Given the description of an element on the screen output the (x, y) to click on. 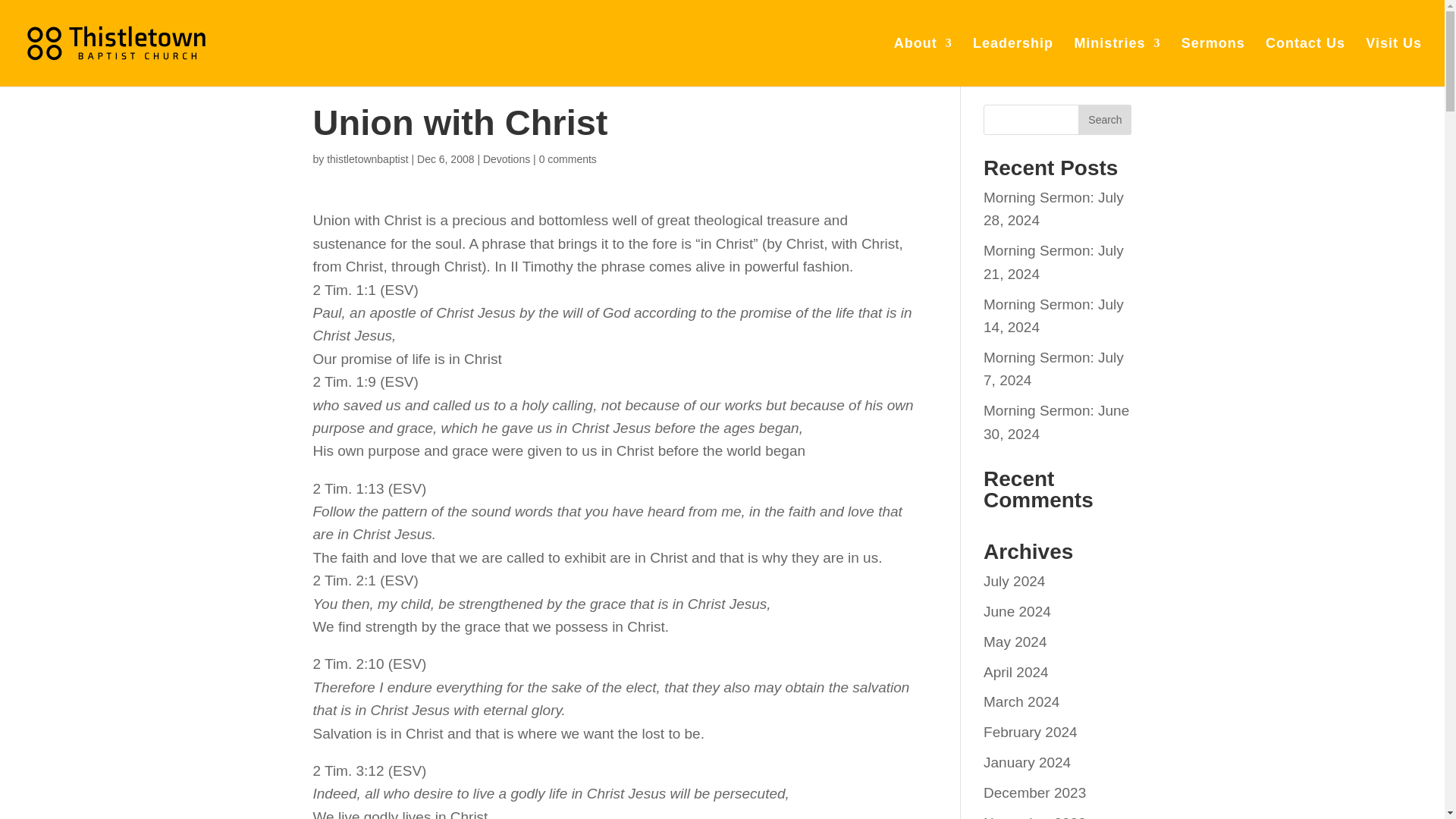
Visit Us (1393, 61)
December 2023 (1035, 792)
thistletownbaptist (366, 159)
Morning Sermon: July 14, 2024 (1054, 315)
March 2024 (1021, 701)
About (922, 61)
Leadership (1012, 61)
April 2024 (1016, 672)
Contact Us (1305, 61)
June 2024 (1017, 611)
May 2024 (1015, 641)
Sermons (1212, 61)
Morning Sermon: July 28, 2024 (1054, 208)
Devotions (506, 159)
Search (1104, 119)
